Given the description of an element on the screen output the (x, y) to click on. 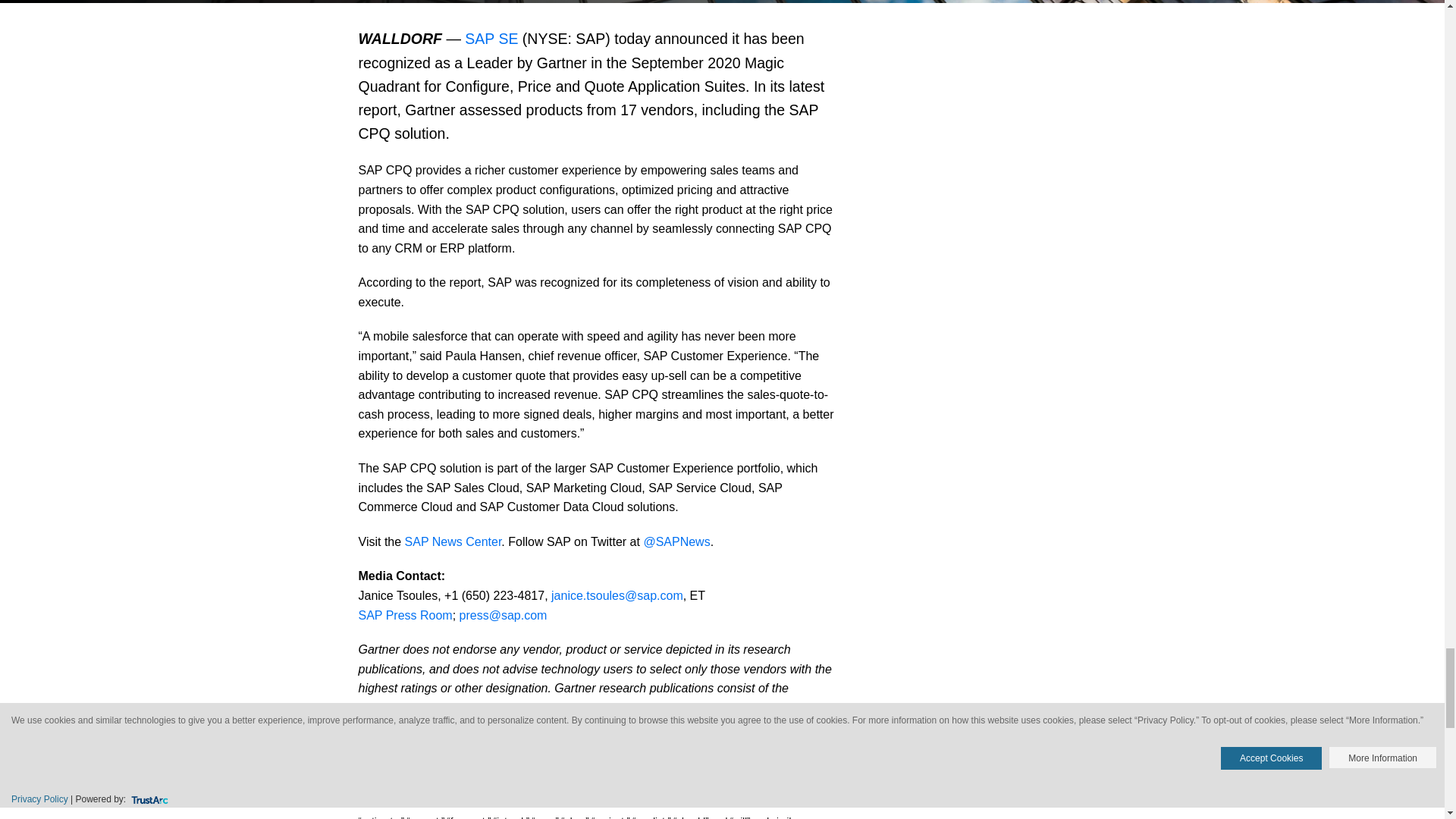
SAP SE (491, 38)
SAP Press Room (404, 615)
SAP News Center (453, 541)
